Given the description of an element on the screen output the (x, y) to click on. 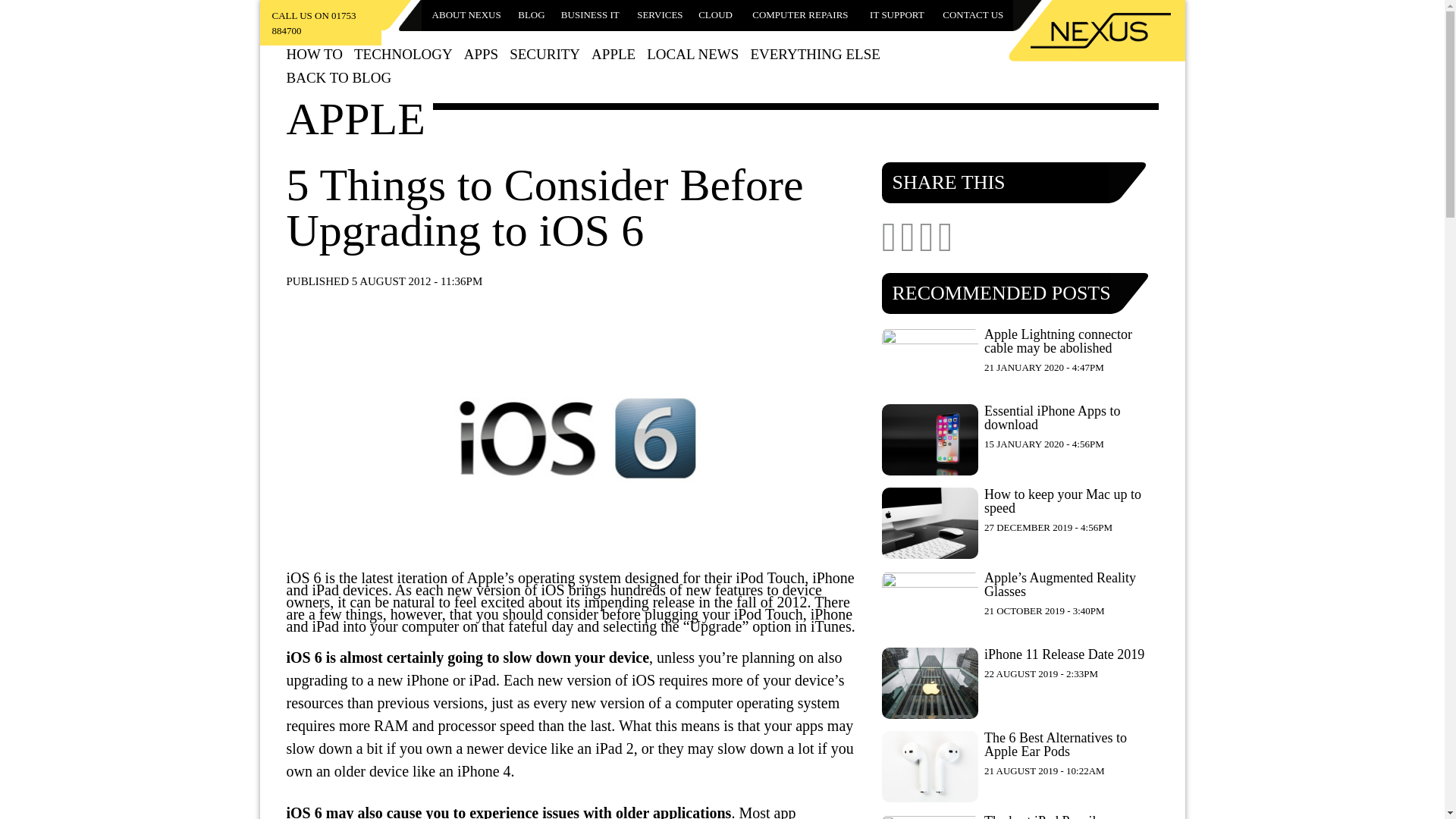
ABOUT NEXUS (466, 15)
CONTACT US (973, 15)
IT SUPPORT (896, 15)
ios6 (574, 438)
BLOG (531, 15)
Share by Email (945, 244)
BUSINESS IT (589, 15)
CLOUD (715, 15)
COMPUTER REPAIRS (800, 15)
SERVICES (659, 15)
